Given the description of an element on the screen output the (x, y) to click on. 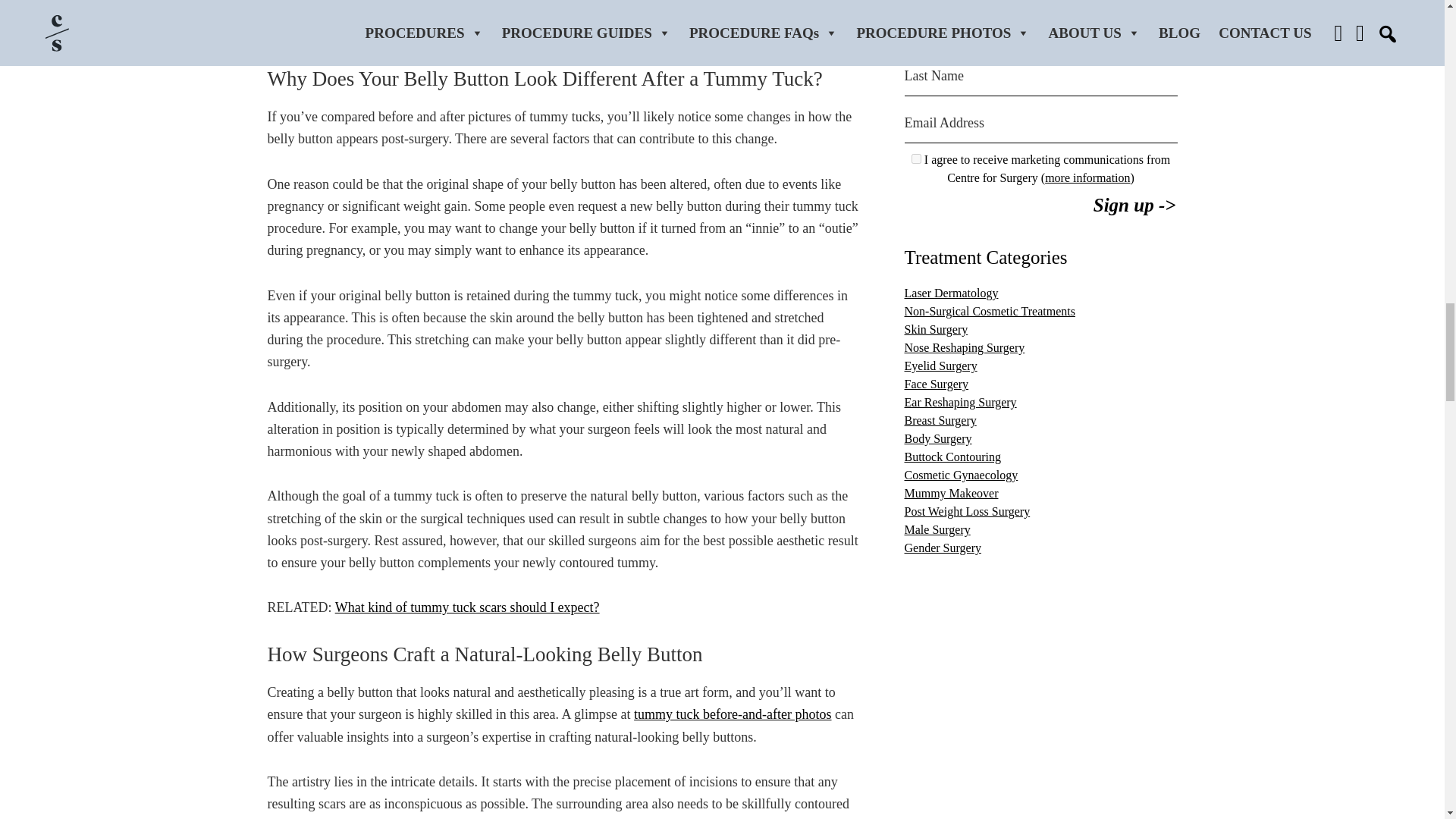
1 (916, 157)
